Given the description of an element on the screen output the (x, y) to click on. 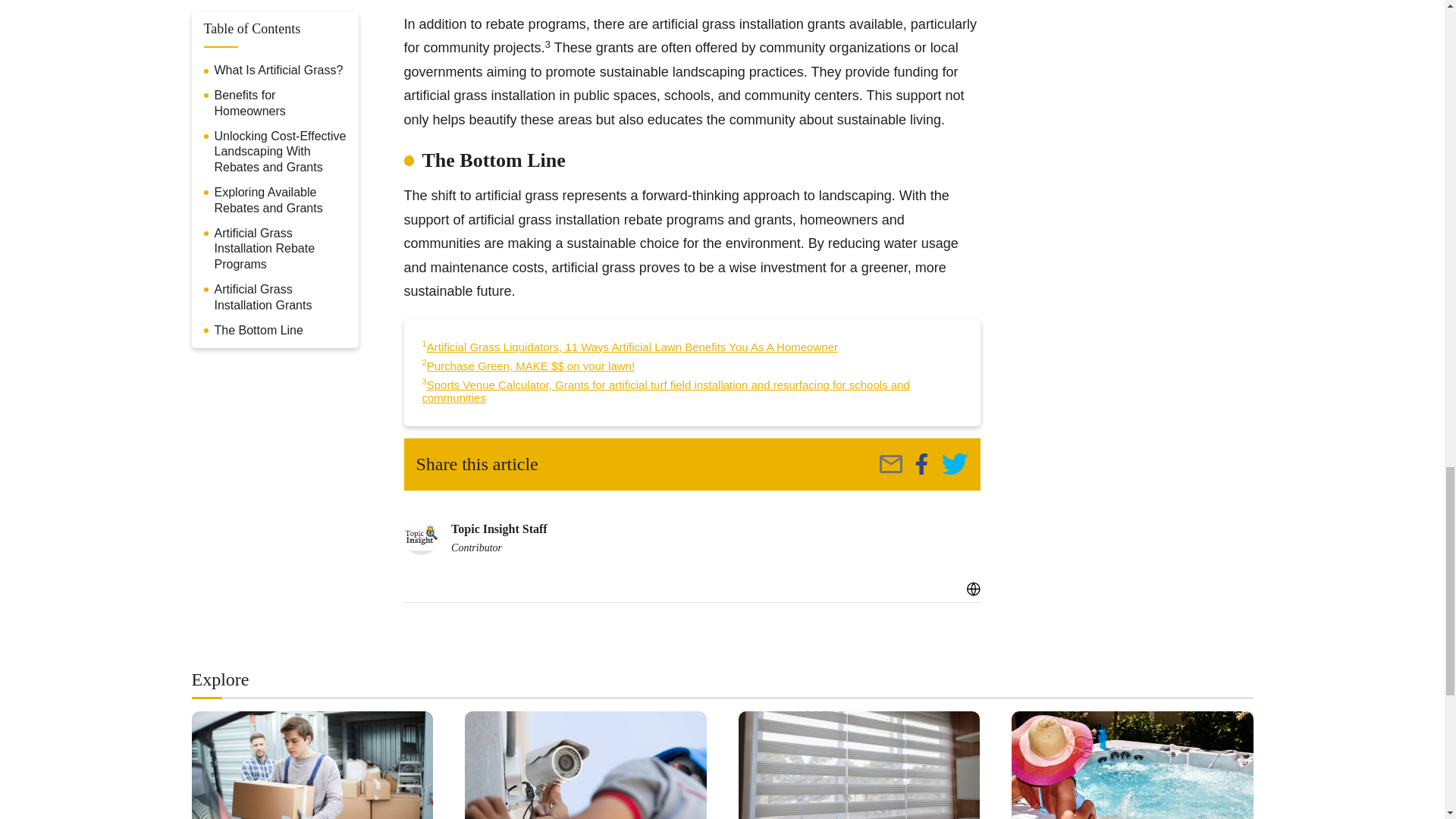
Share by Email (890, 464)
